Given the description of an element on the screen output the (x, y) to click on. 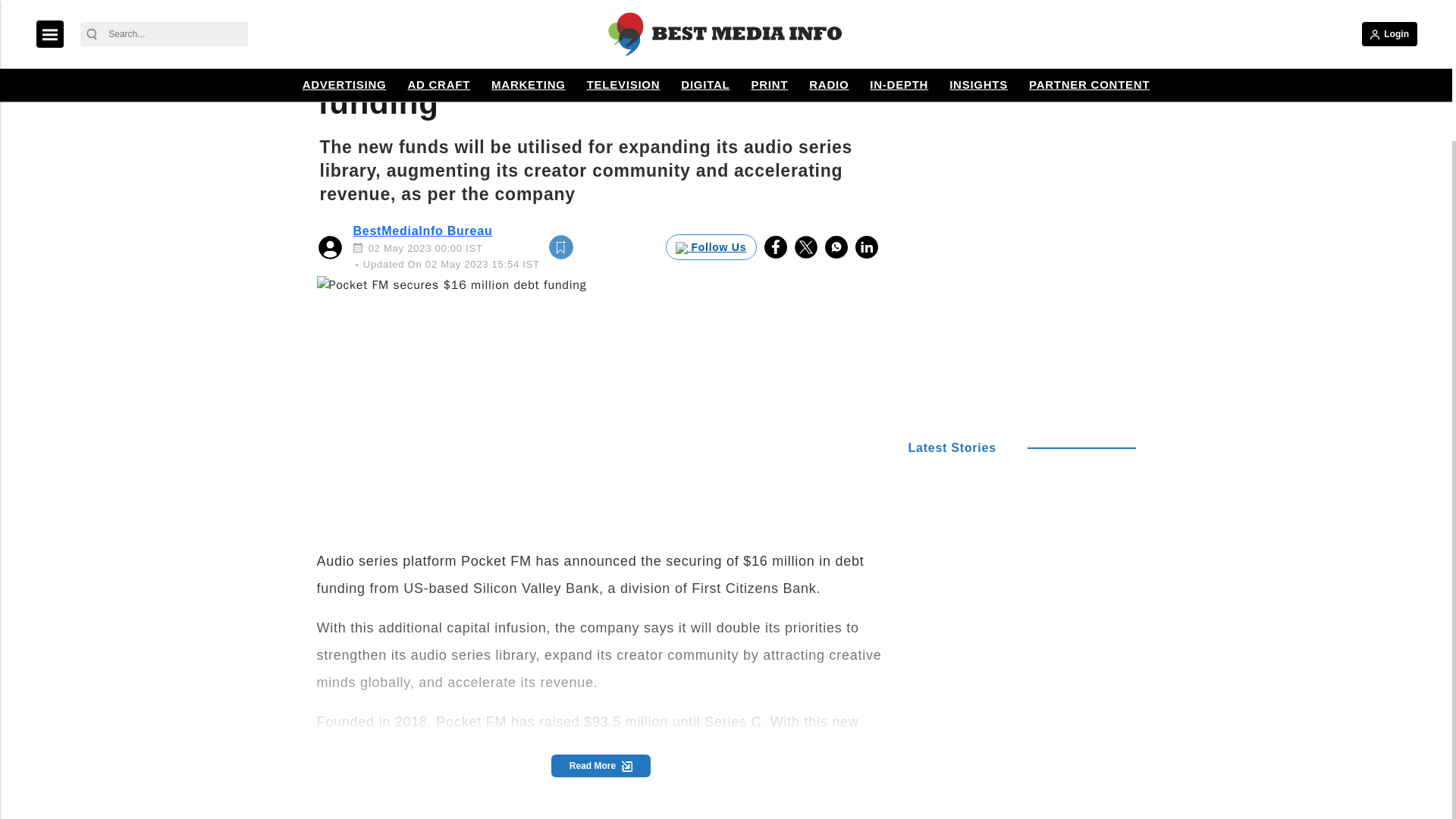
Follow Us (711, 247)
Digital (348, 20)
BestMediaInfo Bureau (423, 230)
